Given the description of an element on the screen output the (x, y) to click on. 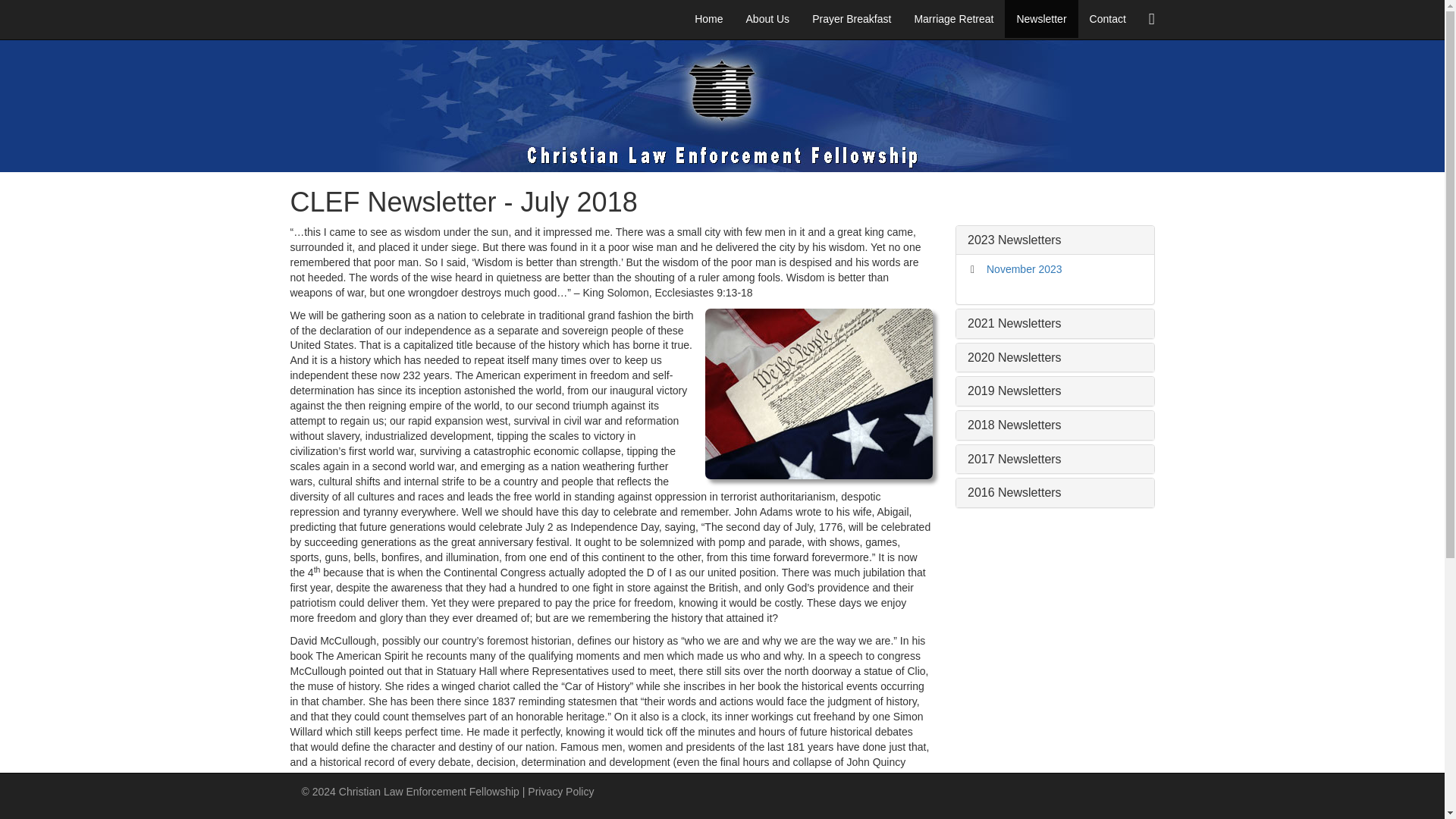
About Us (768, 18)
2019 Newsletters (1014, 390)
2023 Newsletters (1014, 239)
Home (707, 18)
Contact (1107, 18)
2021 Newsletters (1014, 323)
Marriage Retreat (953, 18)
2020 Newsletters (1014, 357)
2018 Newsletters (1014, 424)
November 2023 (1024, 268)
